Given the description of an element on the screen output the (x, y) to click on. 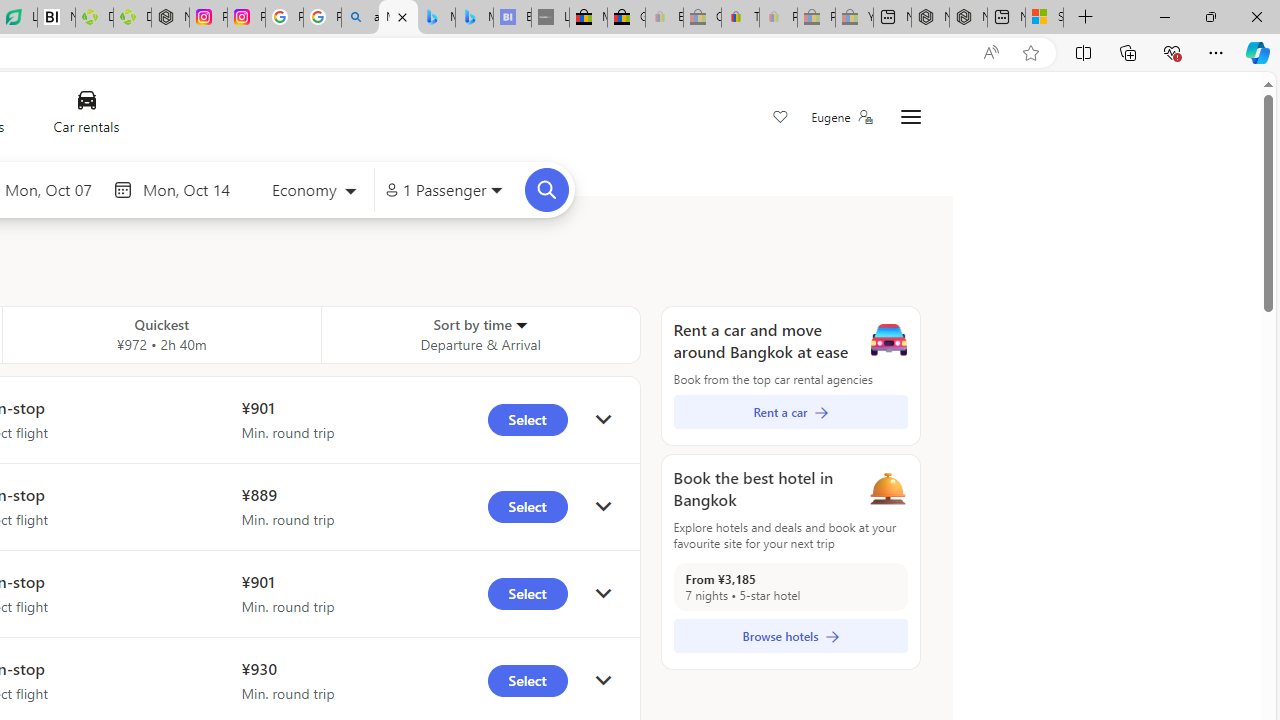
Save (780, 118)
Nvidia va a poner a prueba la paciencia de los inversores (56, 17)
Microsoft Bing Travel - Flights from Hong Kong to Bangkok (398, 17)
